Given the description of an element on the screen output the (x, y) to click on. 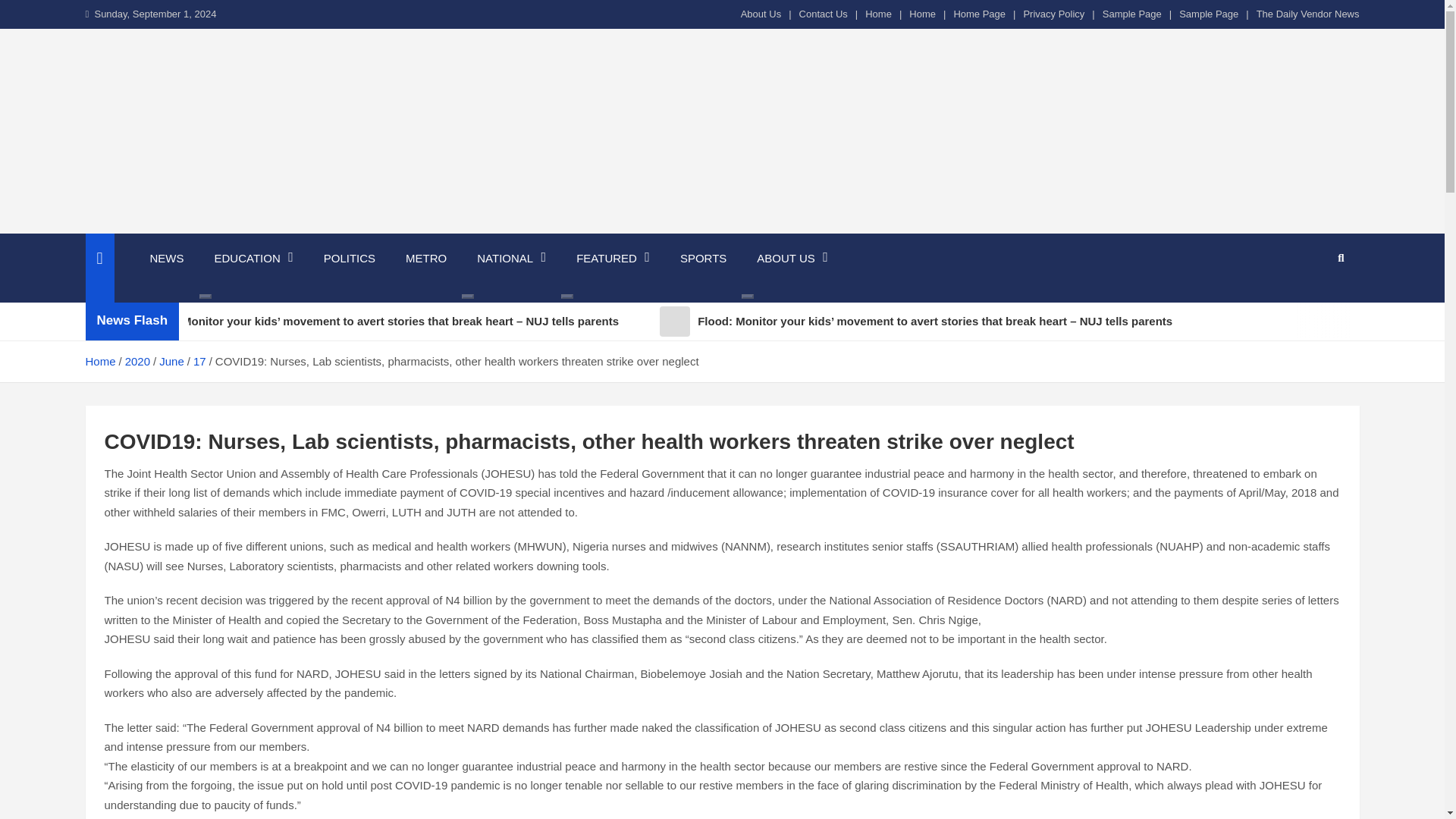
Sample Page (1131, 13)
ABOUT US (792, 258)
The Daily Vendor News (1307, 13)
EDUCATION (252, 258)
Home (922, 13)
METRO (425, 258)
POLITICS (349, 258)
Contact Us (823, 13)
FEATURED (612, 258)
NATIONAL (510, 258)
